Given the description of an element on the screen output the (x, y) to click on. 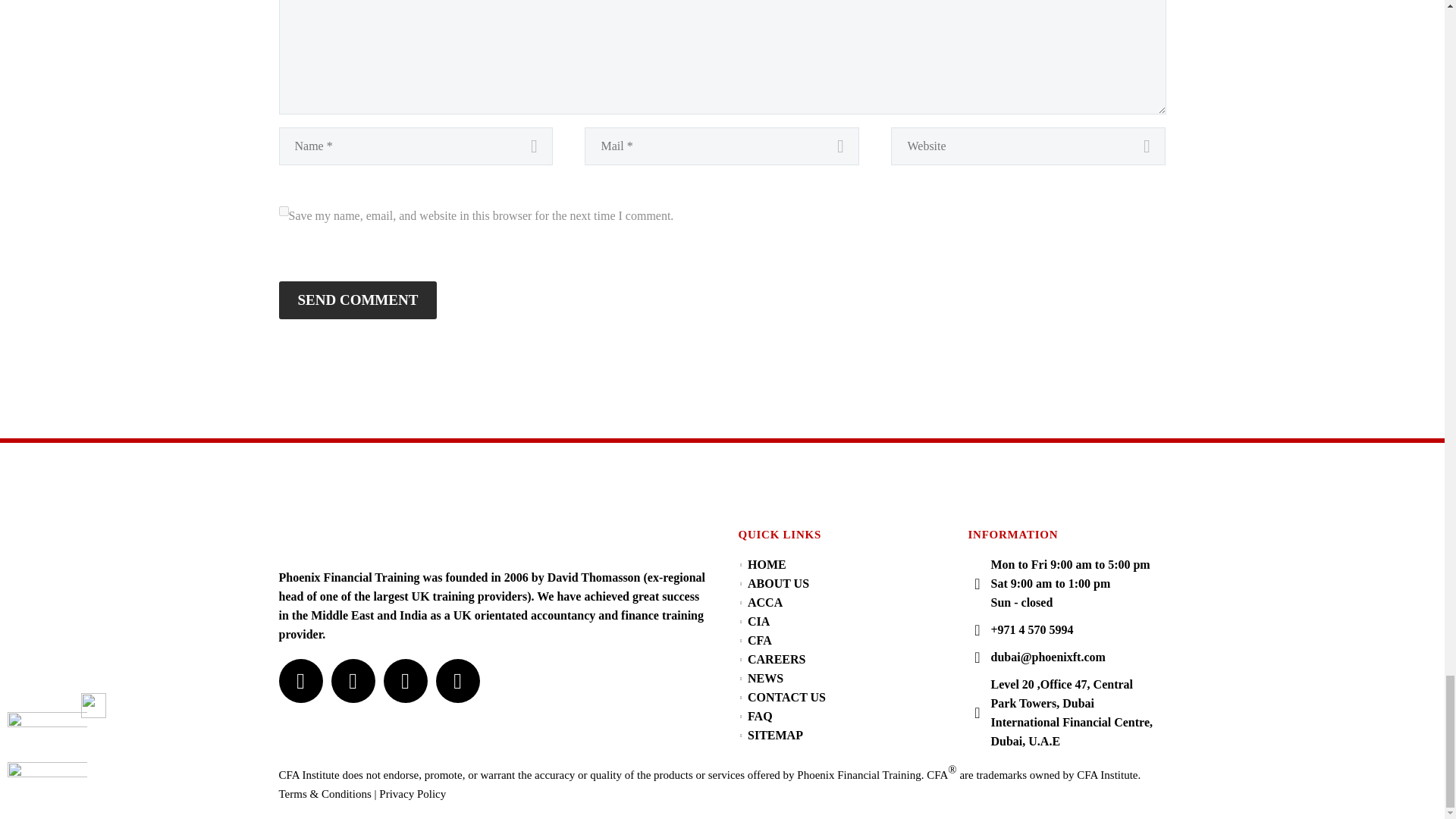
yes (283, 211)
